Given the description of an element on the screen output the (x, y) to click on. 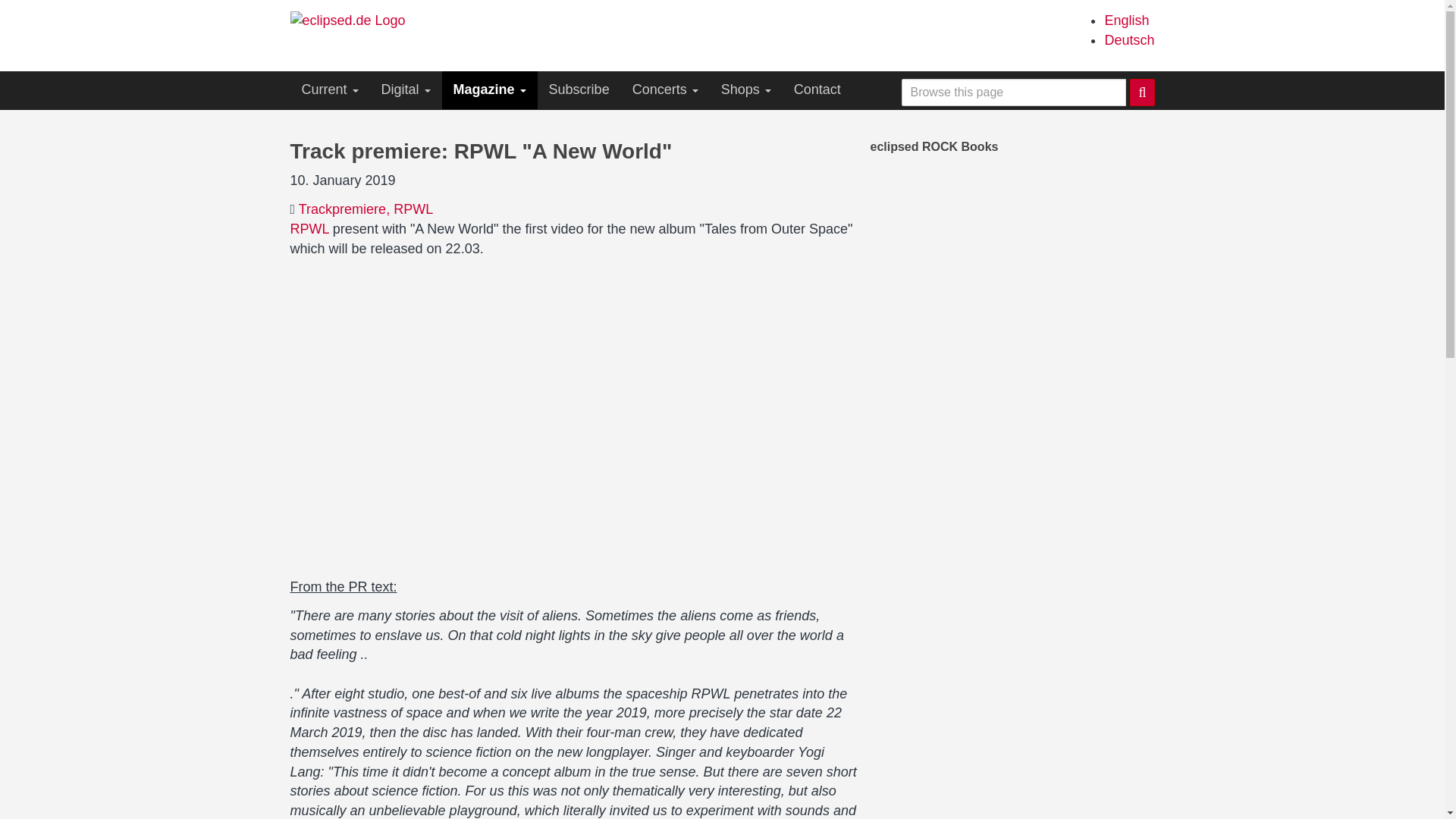
Digital (405, 89)
Trackpremiere (344, 209)
Current (329, 89)
Contact (817, 89)
Home (352, 20)
Concerts (665, 89)
Trackpremiere: RPWL "A New World" (1128, 39)
Magazine (489, 89)
Track premiere: RPWL "A New World" (1125, 20)
Deutsch (1128, 39)
